Given the description of an element on the screen output the (x, y) to click on. 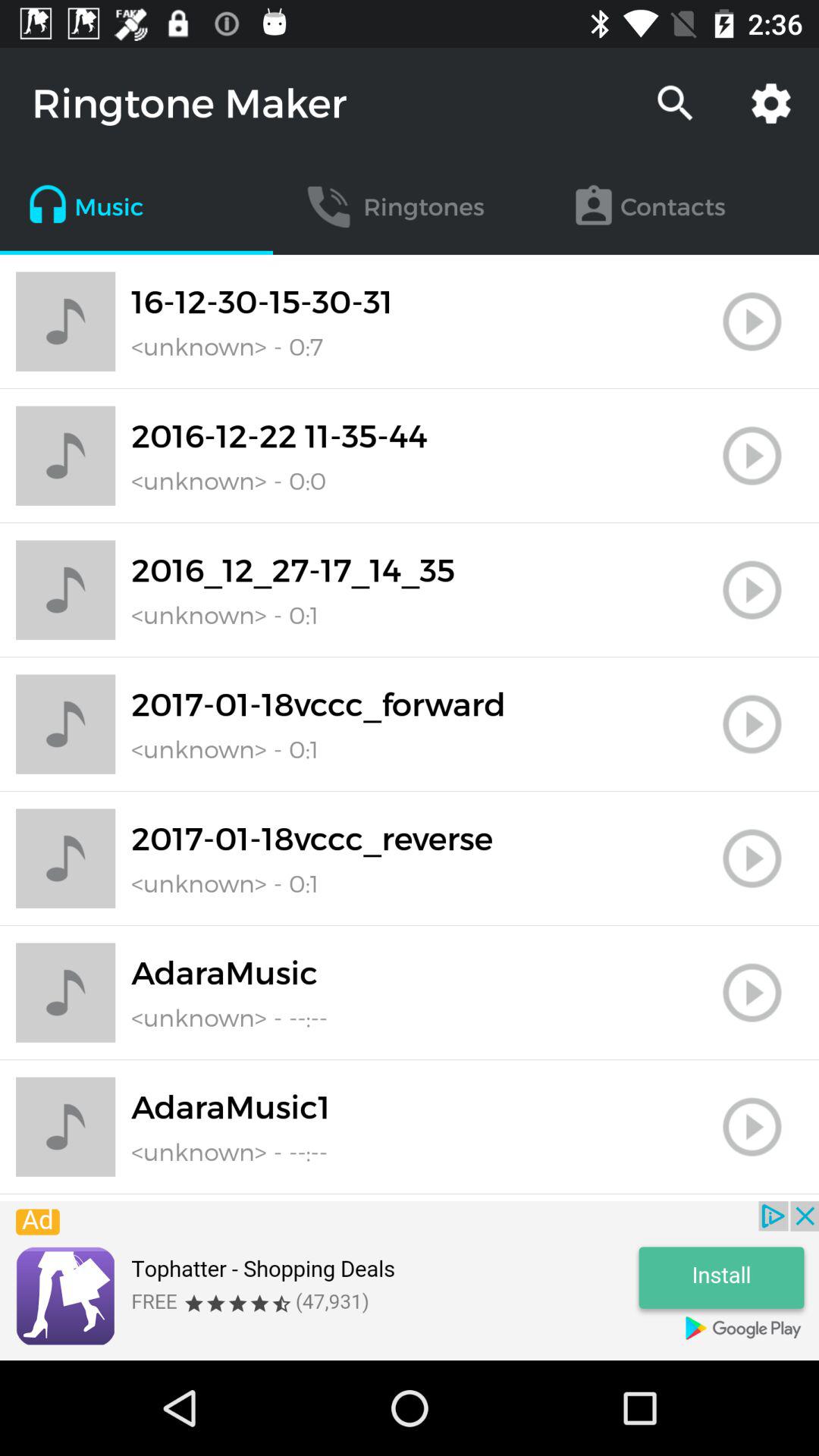
play button (752, 724)
